Given the description of an element on the screen output the (x, y) to click on. 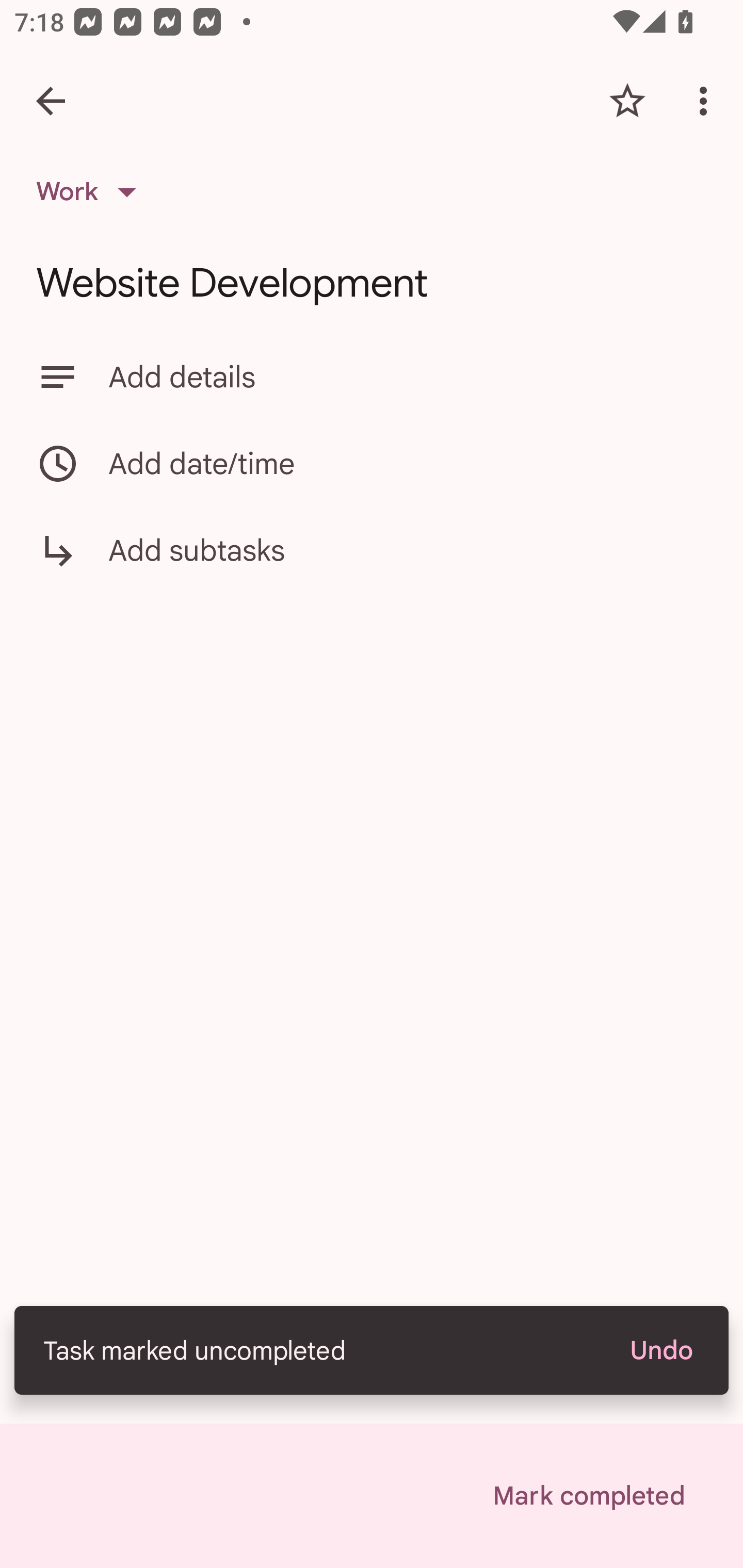
Back (50, 101)
Add star (626, 101)
More options (706, 101)
Work List, Work selected, 1 of 19 (92, 191)
Website Development (371, 283)
Add details (371, 376)
Add details (407, 376)
Add date/time (371, 463)
Add subtasks (371, 564)
Undo (660, 1350)
Mark completed (588, 1495)
